Given the description of an element on the screen output the (x, y) to click on. 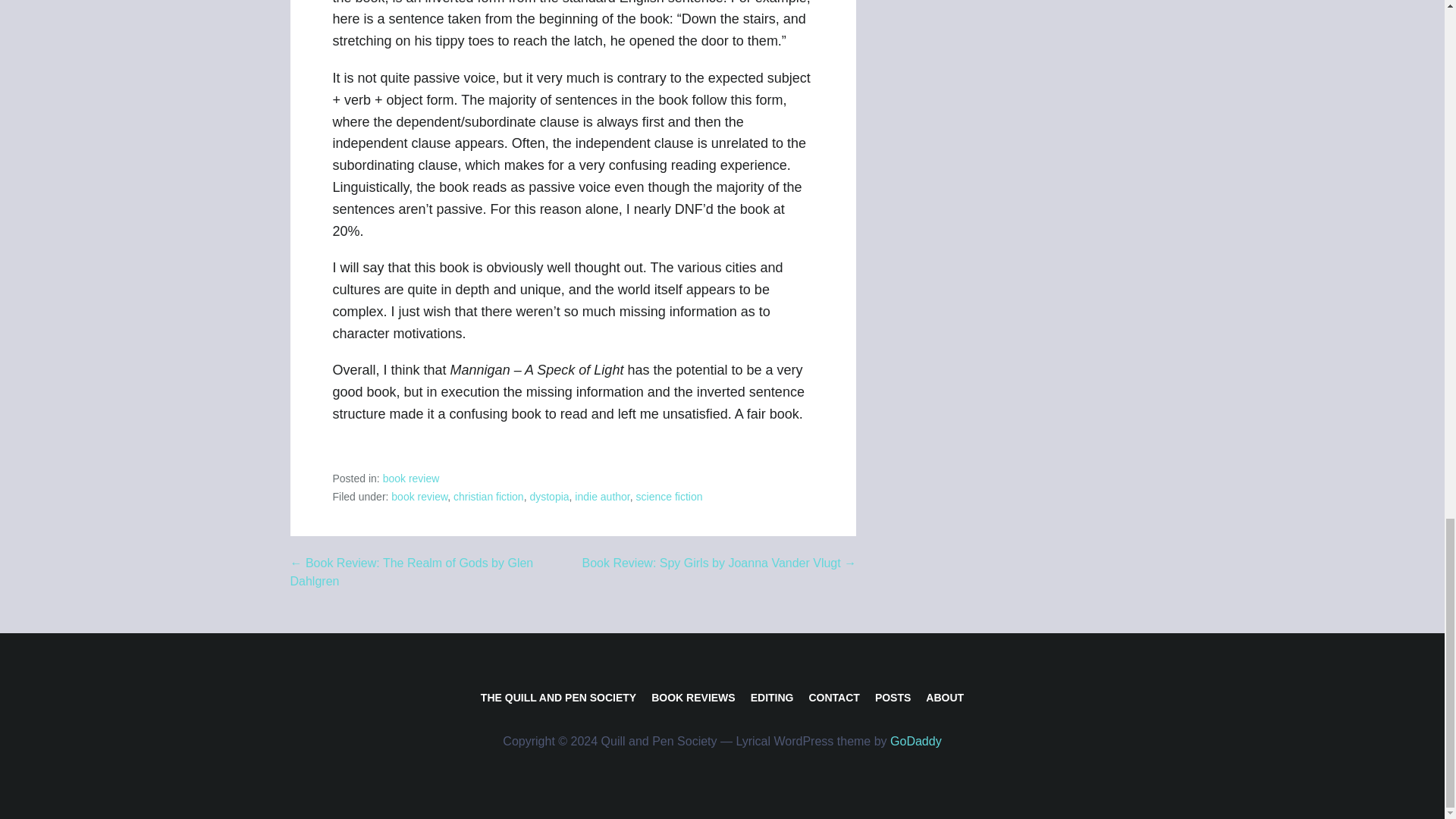
science fiction (669, 496)
indie author (601, 496)
EDITING (772, 697)
CONTACT (833, 697)
christian fiction (488, 496)
ABOUT (944, 697)
THE QUILL AND PEN SOCIETY (558, 697)
book review (418, 496)
BOOK REVIEWS (692, 697)
GoDaddy (915, 740)
